Given the description of an element on the screen output the (x, y) to click on. 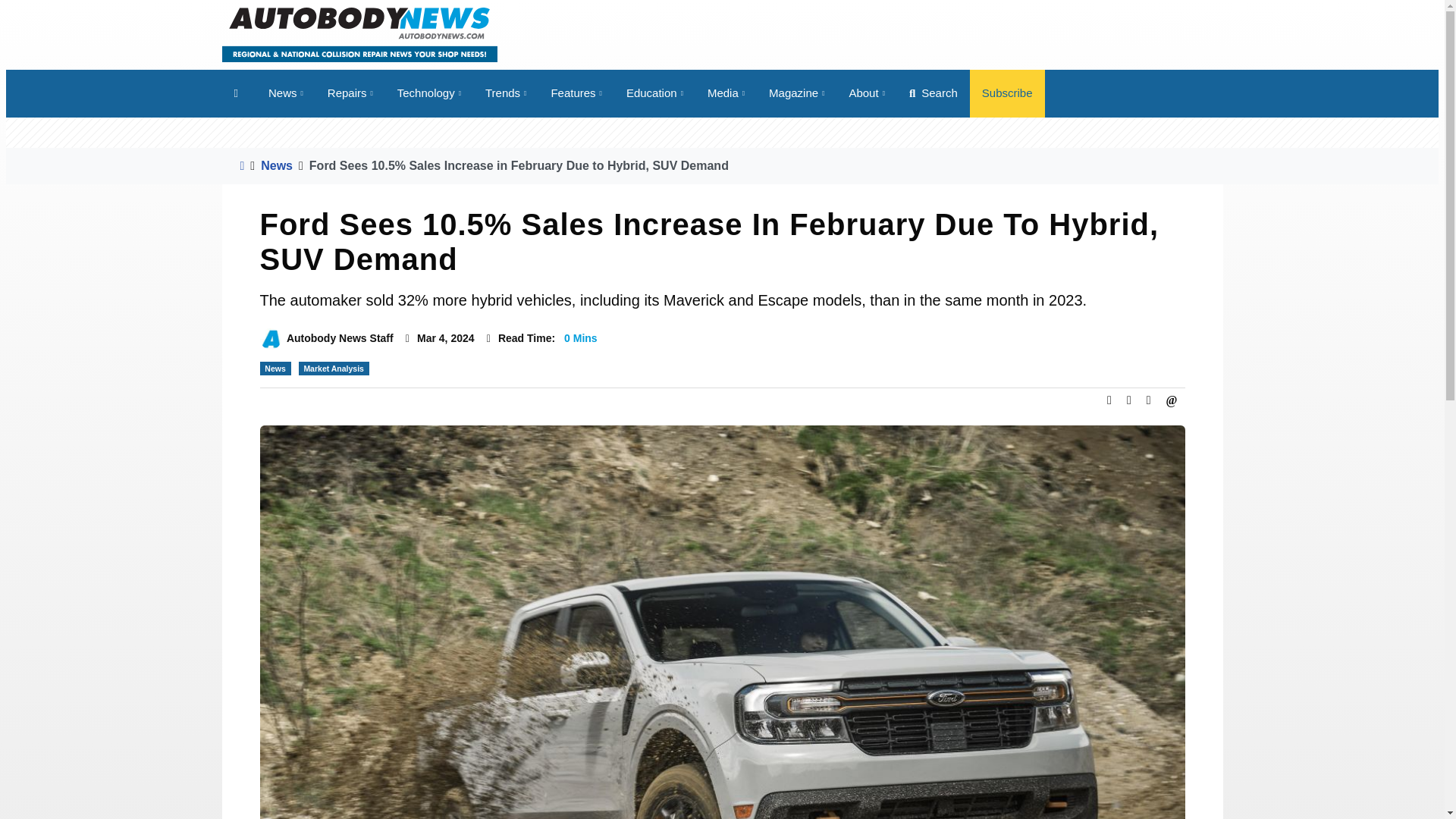
Technology (429, 93)
Features (576, 93)
Estimated time to read (488, 338)
Email This Article (1171, 399)
Share This Article on LinkedIn (1148, 399)
Share This Article on Twitter (1128, 399)
Repairs (350, 93)
Autobody News (358, 33)
Trends (505, 93)
Share This Article on Facebook (1109, 399)
